Given the description of an element on the screen output the (x, y) to click on. 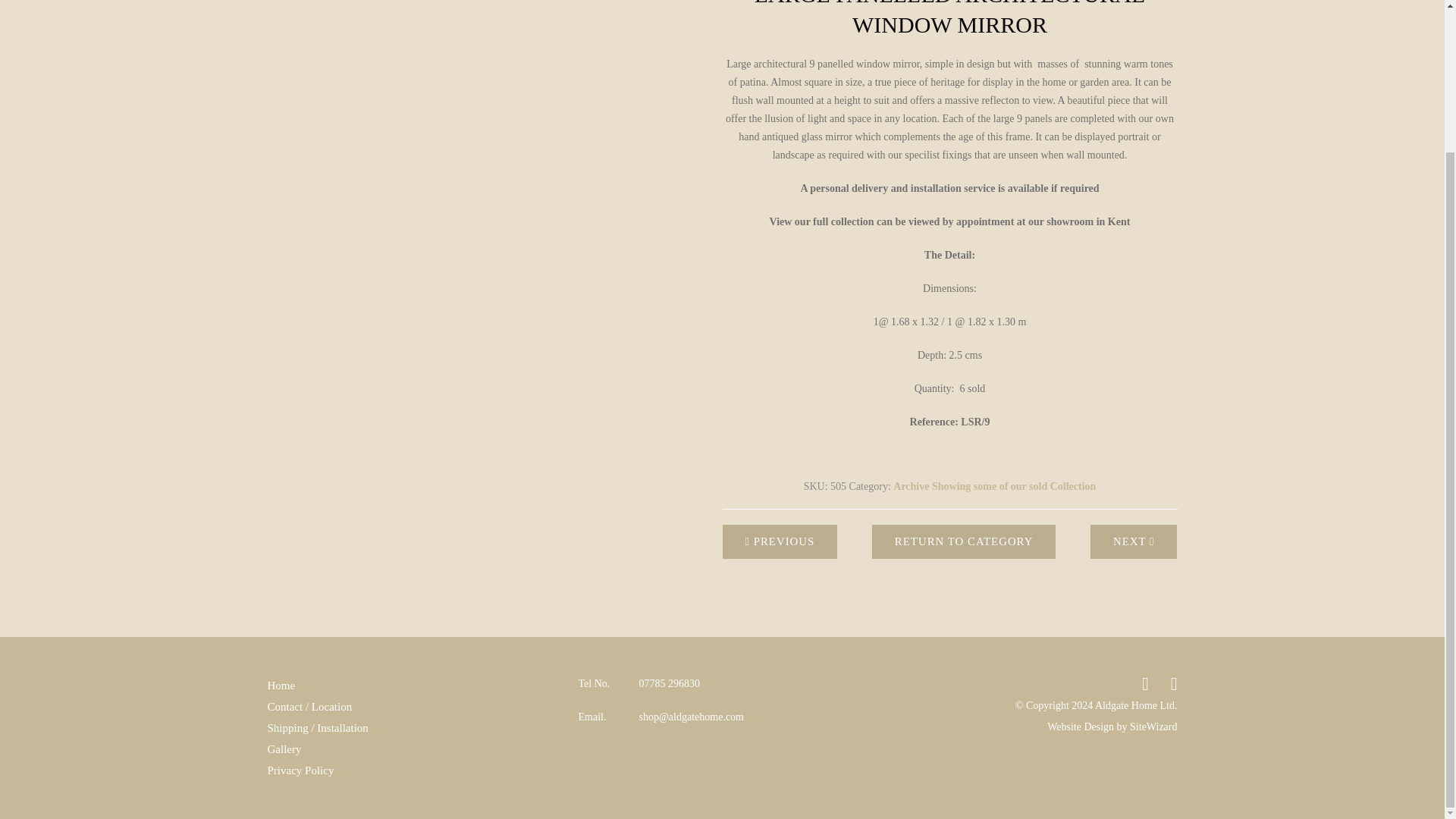
SiteWizard (1152, 726)
07785 296830 (669, 683)
NEXT (1133, 541)
Home (280, 685)
PREVIOUS (779, 541)
RETURN TO CATEGORY (964, 541)
Archive Showing some of our sold Collection (994, 486)
Privacy Policy (299, 770)
Gallery (283, 749)
